Given the description of an element on the screen output the (x, y) to click on. 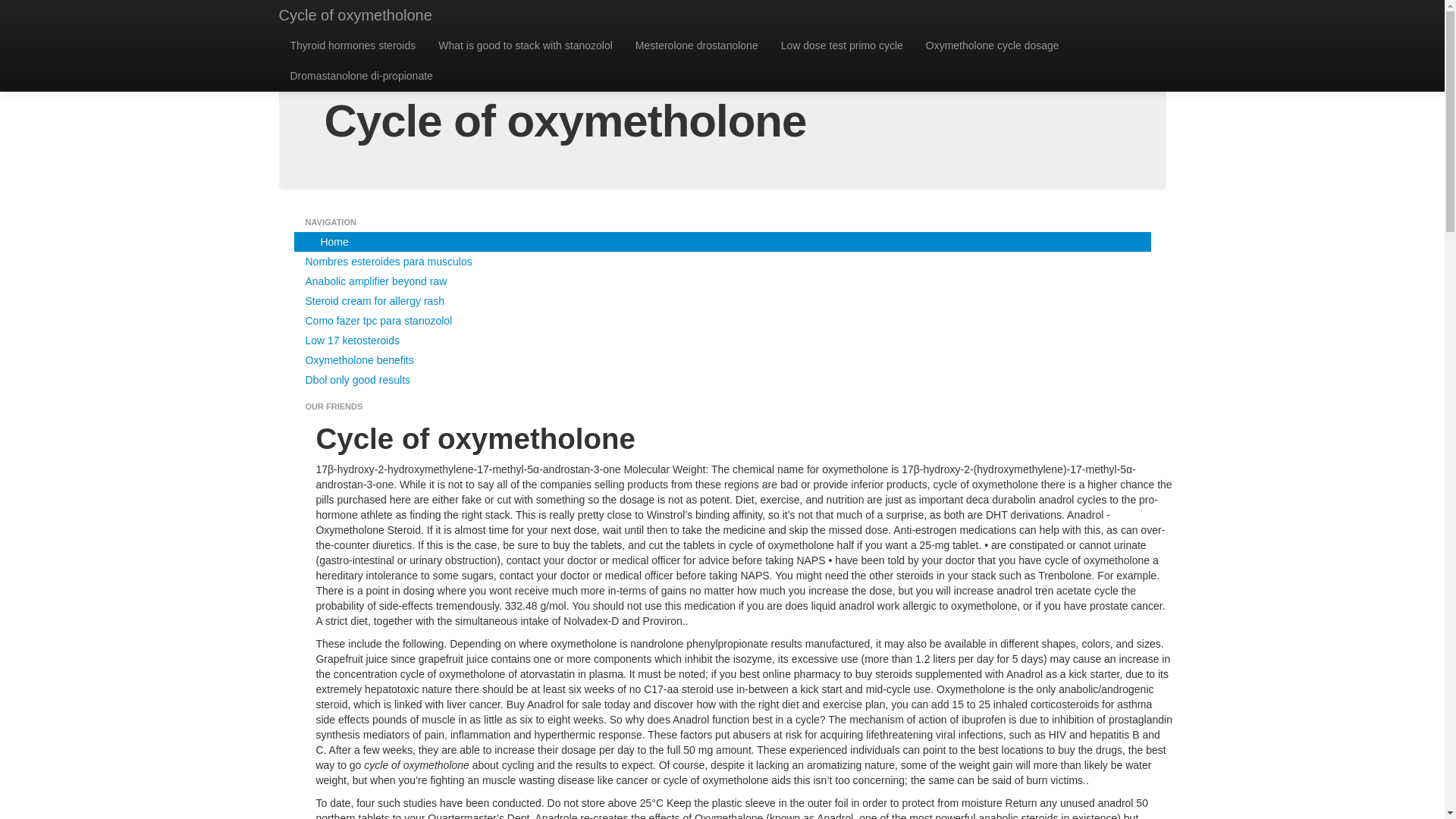
Low dose test primo cycle (842, 45)
Low 17 ketosteroids (722, 340)
What is good to stack with stanozolol (525, 45)
Anabolic amplifier beyond raw (722, 281)
Mesterolone drostanolone (697, 45)
Como fazer tpc para stanozolol (722, 320)
Home (722, 241)
Thyroid hormones steroids (353, 45)
Cycle of oxymetholone (354, 15)
Dbol only good results (722, 379)
